Given the description of an element on the screen output the (x, y) to click on. 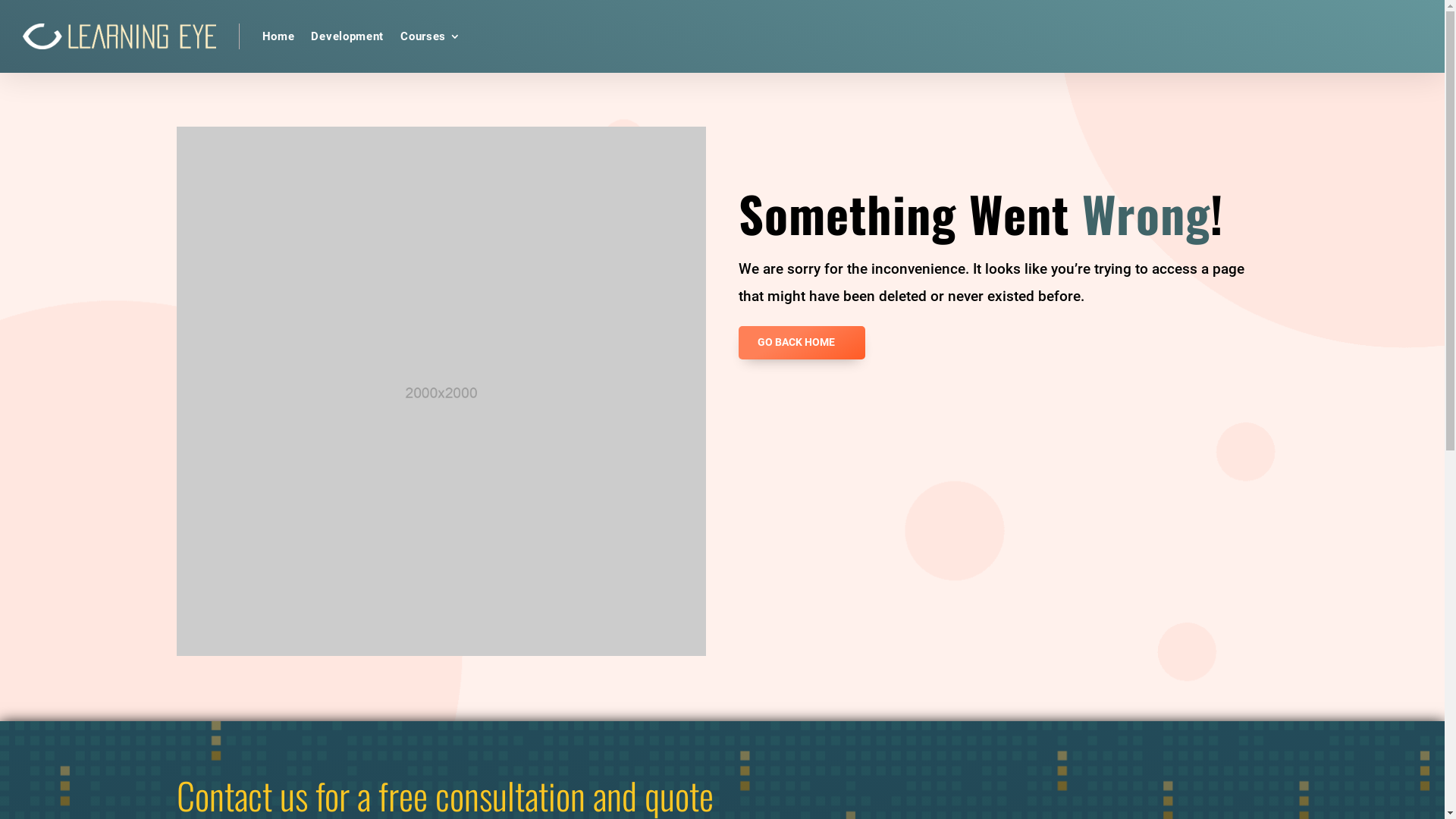
GO BACK HOME Element type: text (801, 342)
Courses Element type: text (430, 36)
Home Element type: text (278, 36)
Molti - 404 Illustration Element type: hover (440, 390)
Development Element type: text (346, 36)
